Given the description of an element on the screen output the (x, y) to click on. 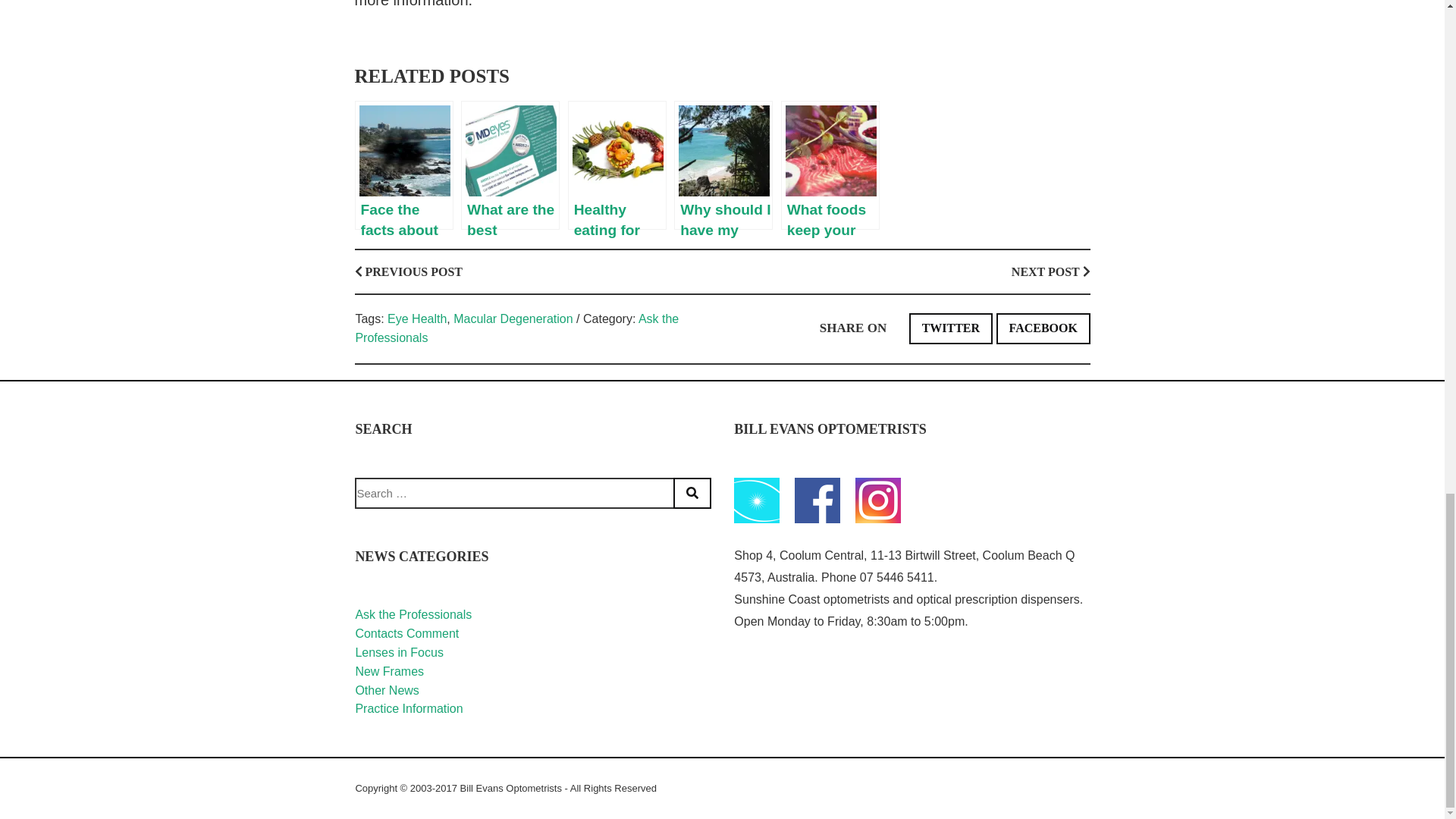
Ask the Professionals (413, 614)
Practice Information (409, 707)
Ask the Professionals (516, 327)
Other News (387, 689)
Lenses in Focus (399, 652)
New Frames (389, 671)
Eye Health (416, 318)
Bill Evans Optometrists on Facebook (817, 500)
Macular Degeneration (512, 318)
News Archive (755, 500)
PREVIOUS POST (409, 271)
FACEBOOK (1042, 327)
TWITTER (950, 327)
NEXT POST (1050, 271)
Bill Evans Optometrists on Instagram (878, 500)
